Given the description of an element on the screen output the (x, y) to click on. 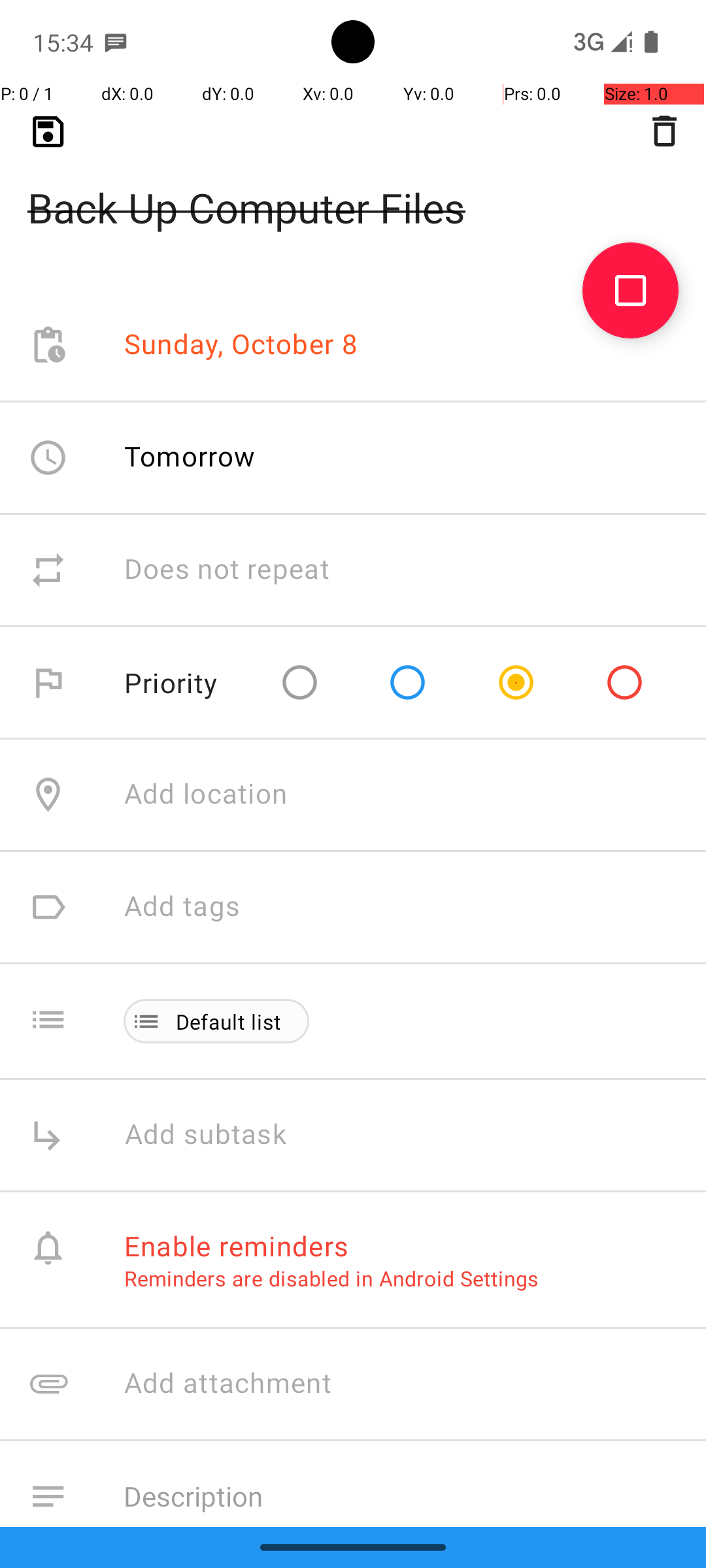
Back Up Computer Files Element type: android.widget.EditText (353, 186)
Sunday, October 8 Element type: android.widget.TextView (240, 344)
